Given the description of an element on the screen output the (x, y) to click on. 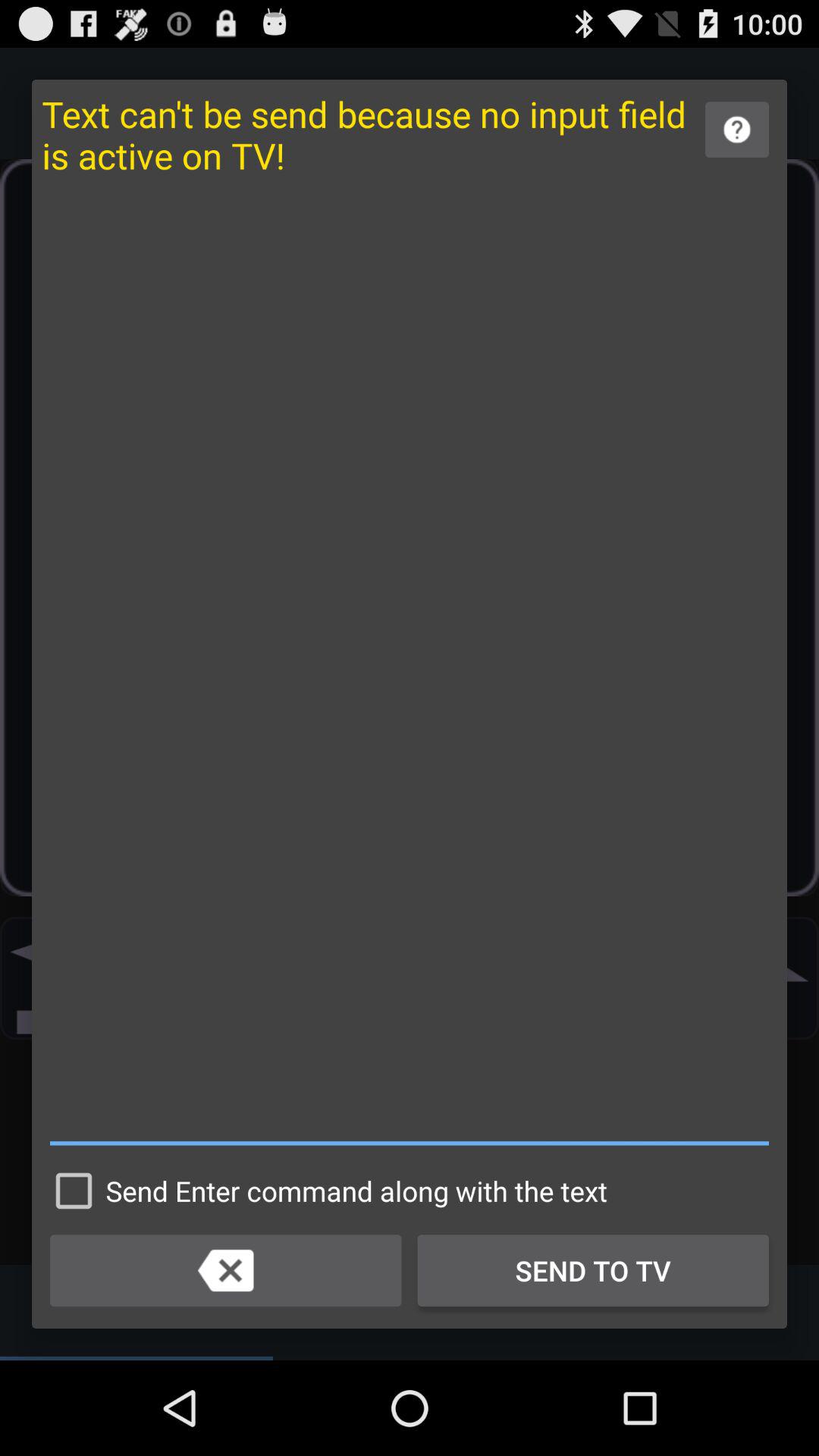
jump until icon (409, 669)
